Given the description of an element on the screen output the (x, y) to click on. 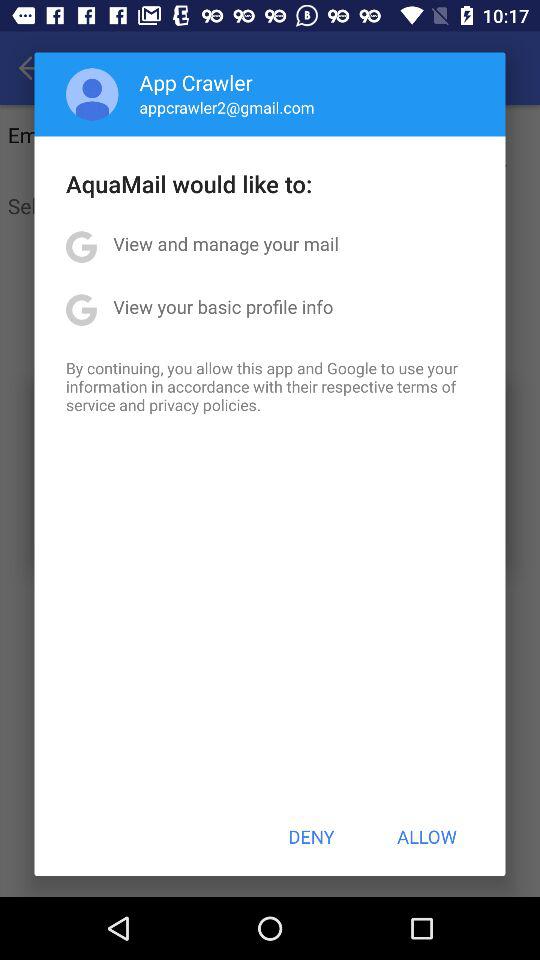
click icon above aquamail would like item (92, 94)
